Given the description of an element on the screen output the (x, y) to click on. 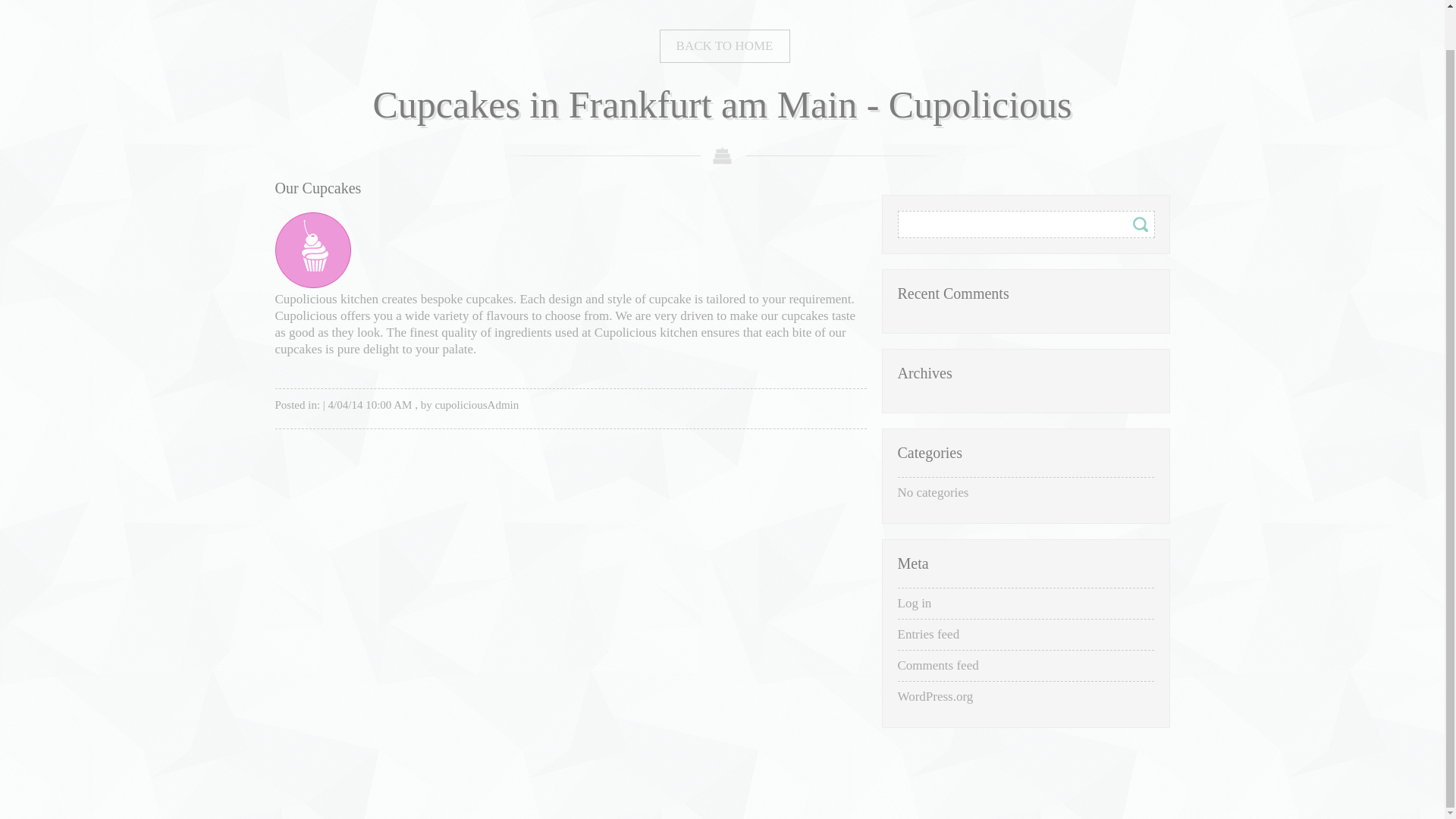
WordPress.org (936, 696)
Log in (914, 602)
BACK TO HOME (725, 45)
Comments feed (938, 664)
Entries feed (928, 634)
